Given the description of an element on the screen output the (x, y) to click on. 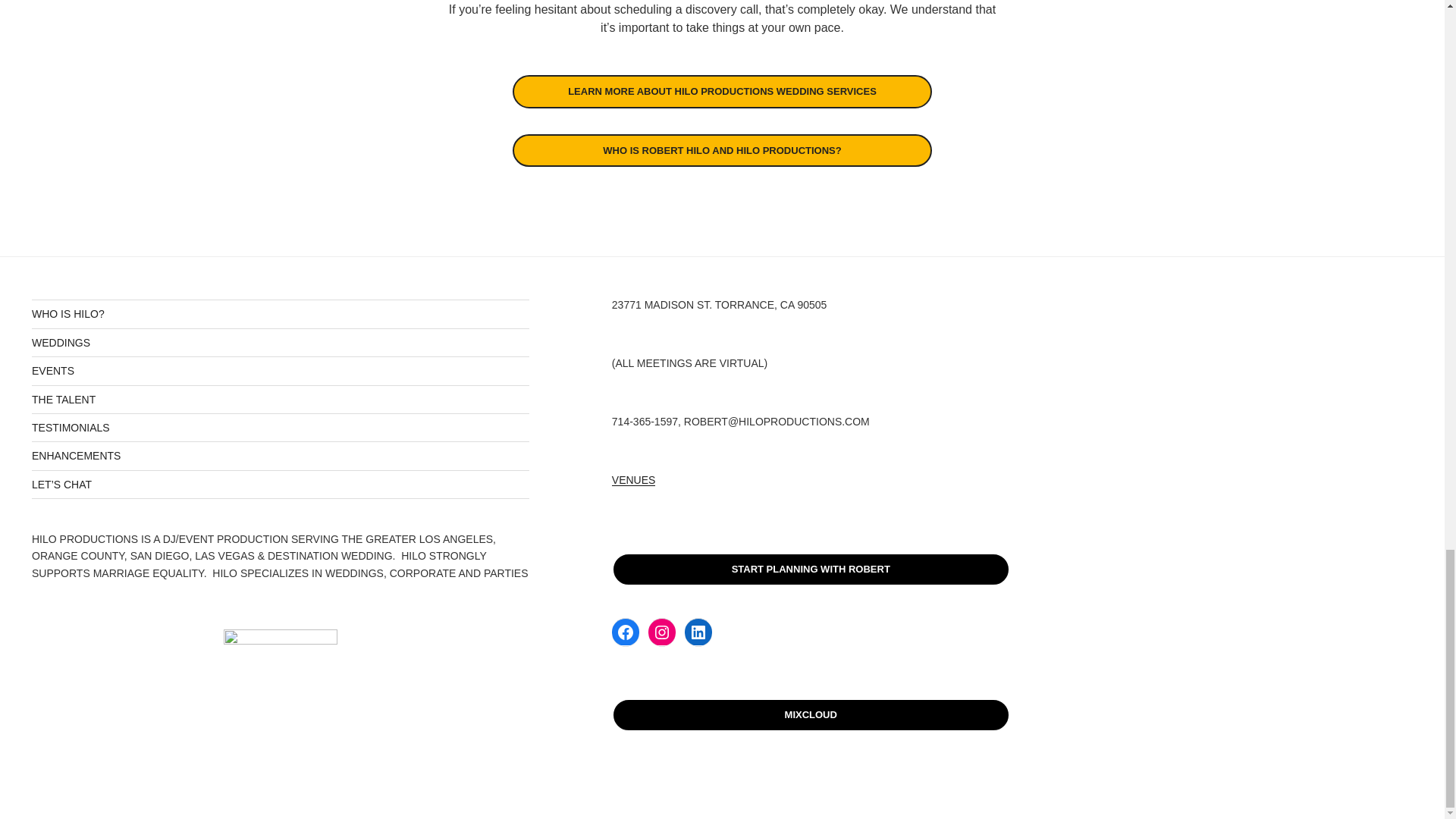
WEDDINGS (61, 342)
ENHANCEMENTS (76, 455)
VENUES (633, 480)
Facebook (625, 632)
LinkedIn (697, 632)
TESTIMONIALS (71, 427)
EVENTS (53, 370)
Instagram (661, 632)
WHO IS HILO? (68, 313)
MIXCLOUD (810, 715)
LEARN MORE ABOUT HILO PRODUCTIONS WEDDING SERVICES (721, 91)
START PLANNING WITH ROBERT (810, 569)
THE TALENT (64, 399)
WHO IS ROBERT HILO AND HILO PRODUCTIONS? (721, 150)
